Given the description of an element on the screen output the (x, y) to click on. 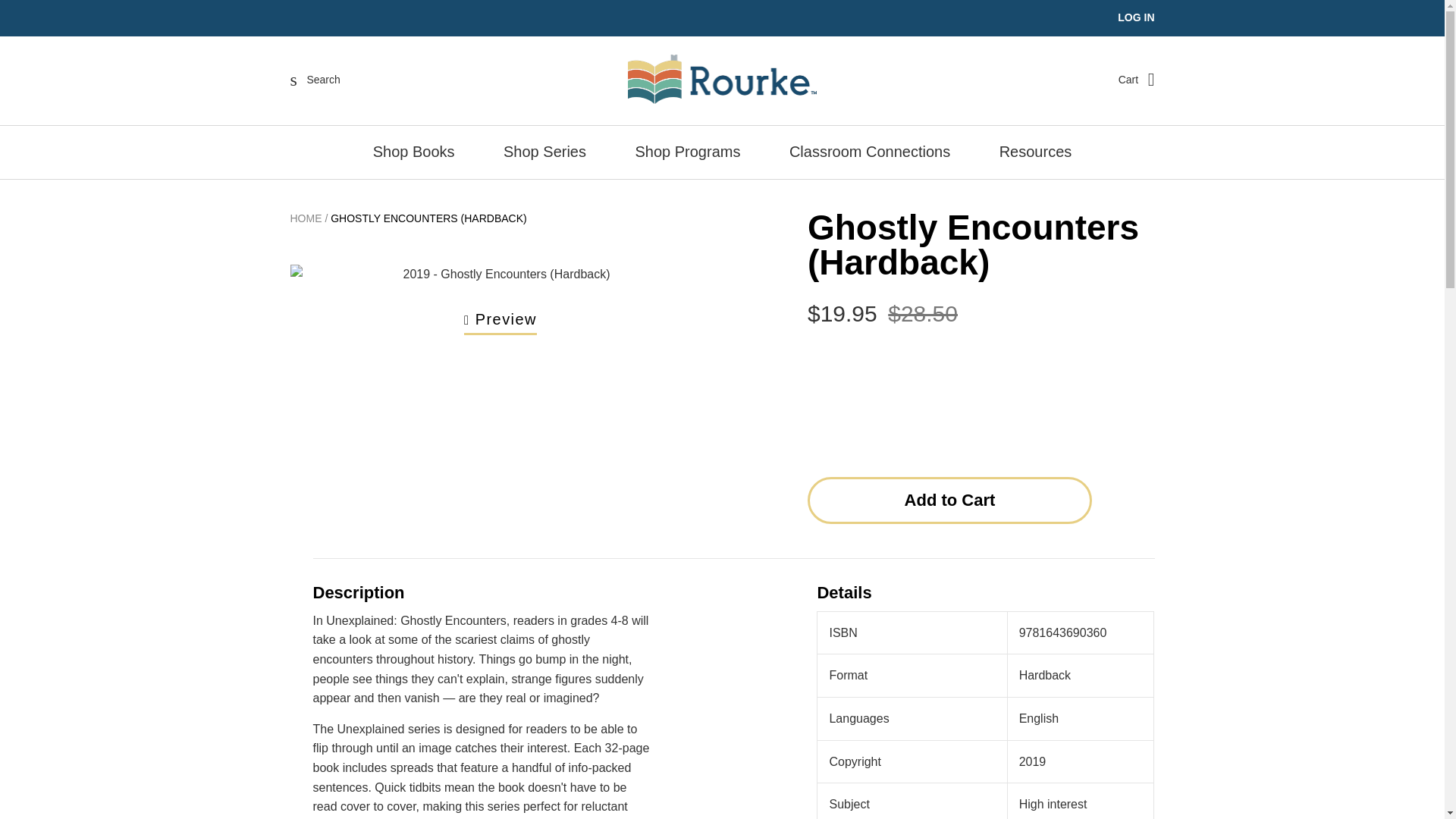
LOG IN (1136, 17)
Back to the frontpage (305, 217)
Search (315, 78)
